Given the description of an element on the screen output the (x, y) to click on. 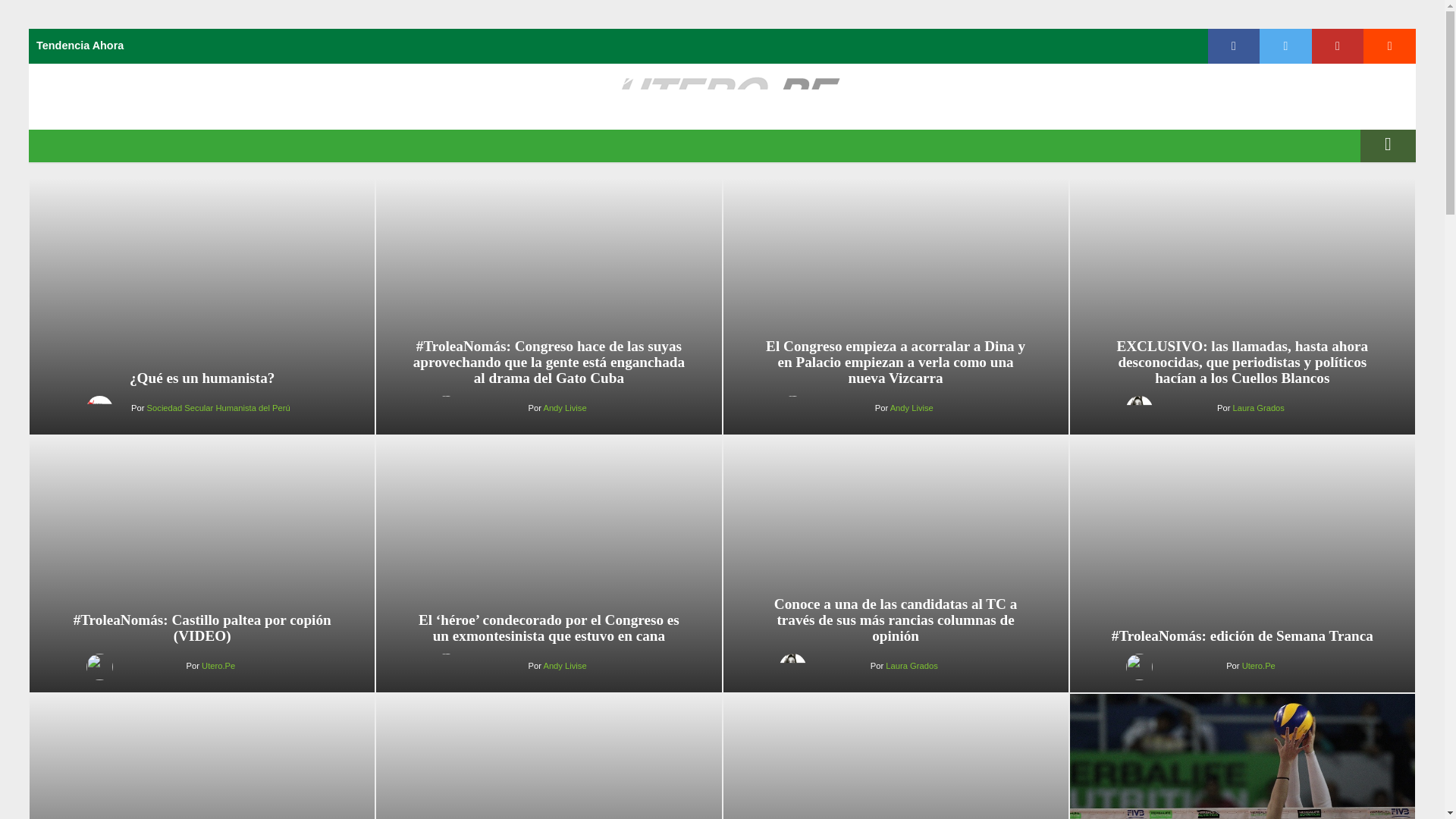
Utero.Pe (1258, 665)
Laura Grados (911, 665)
Andy Livise (911, 407)
Laura Grados (1258, 407)
Andy Livise (564, 665)
Andy Livise (564, 407)
Utero.Pe (218, 665)
